Given the description of an element on the screen output the (x, y) to click on. 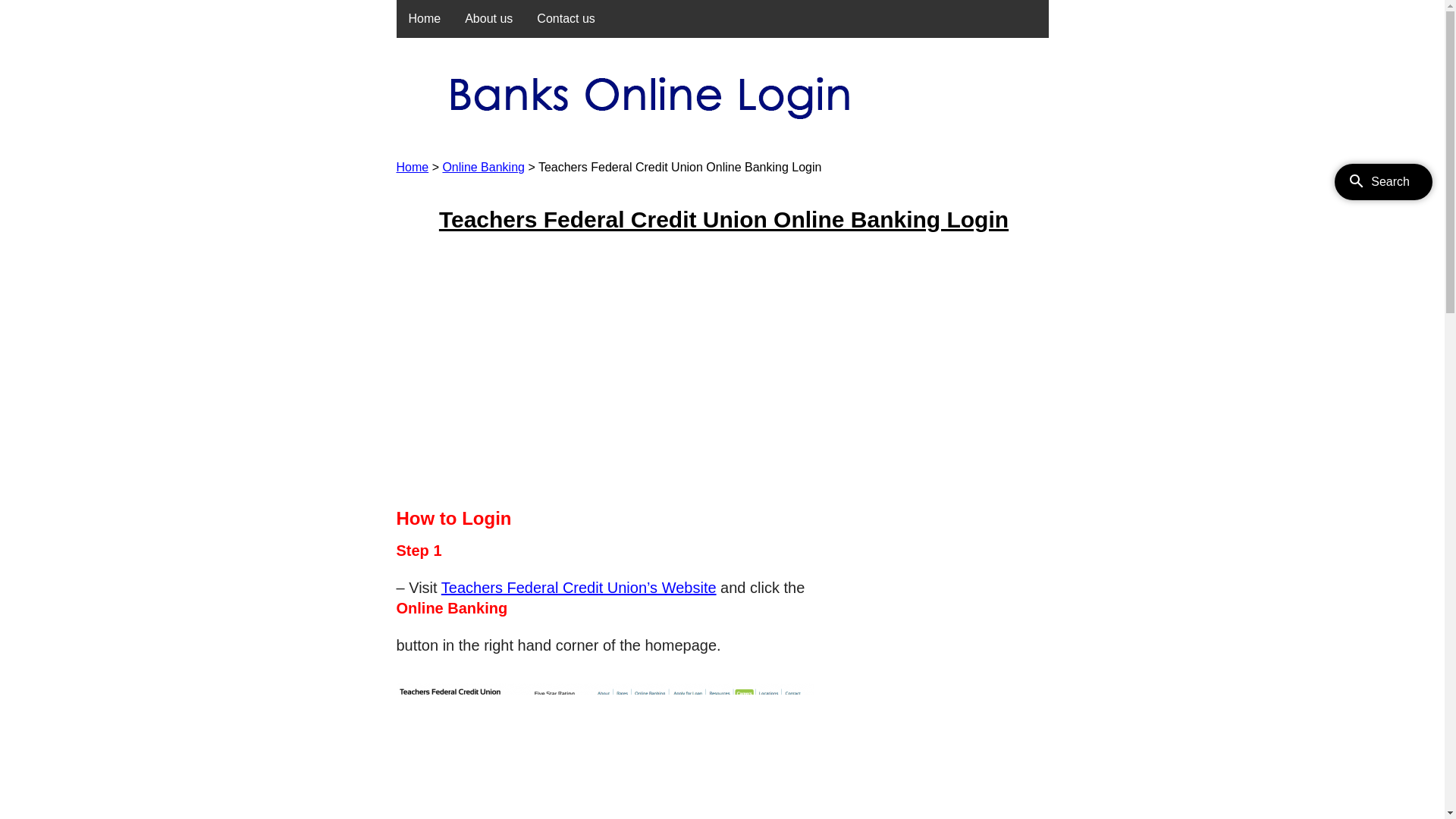
Home Element type: text (423, 18)
Online Banking Element type: text (483, 166)
Teachers Federal Credit Union Online Banking Login Element type: text (723, 219)
Contact us Element type: text (565, 18)
About us Element type: text (488, 18)
Home Element type: text (411, 166)
Advertisement Element type: hover (721, 371)
